Given the description of an element on the screen output the (x, y) to click on. 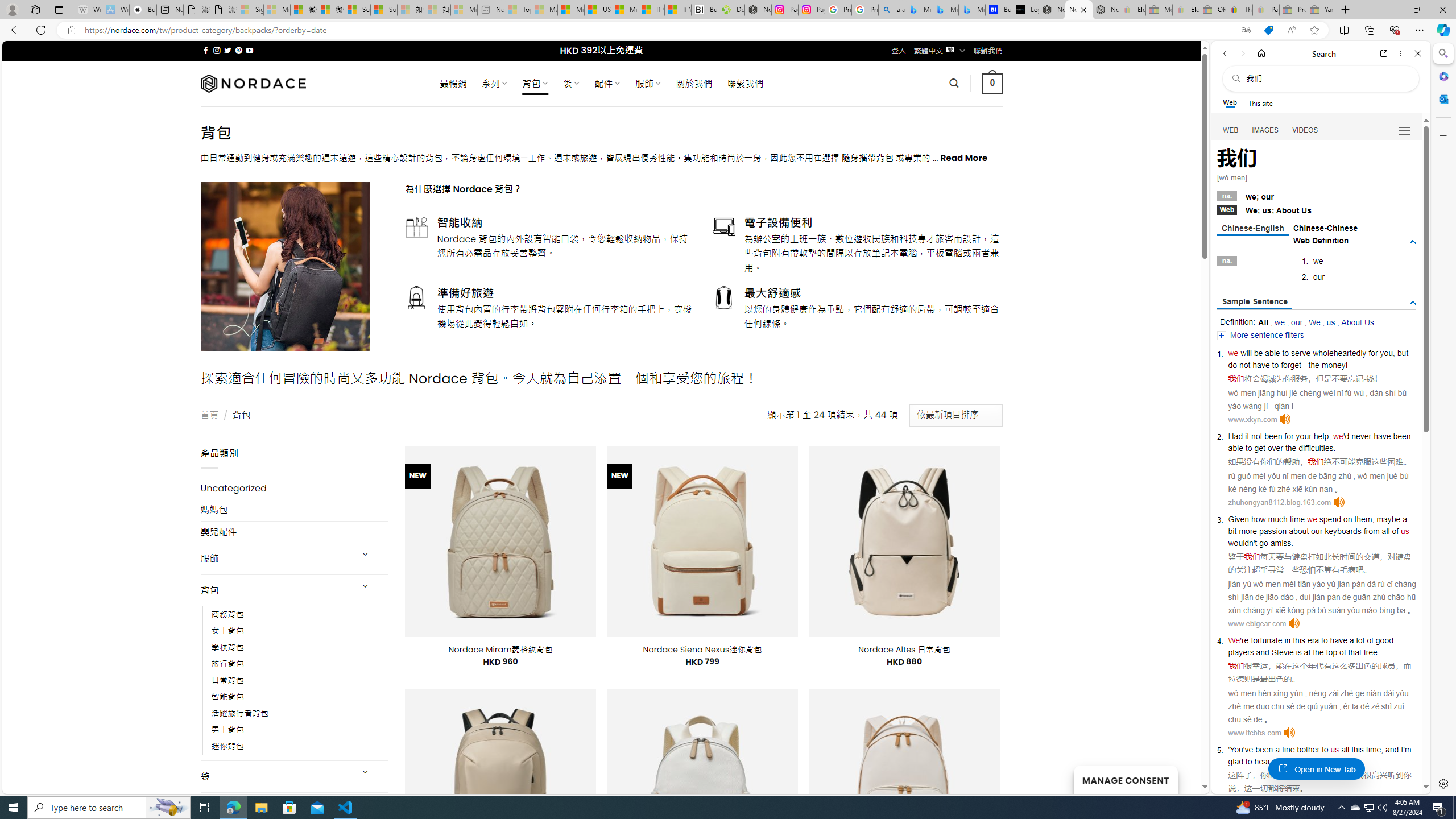
be (1258, 352)
never (1361, 435)
AutomationID: tgdef_sen (1412, 302)
keyboards (1342, 530)
Us (1306, 209)
more (1248, 530)
maybe (1387, 519)
